Given the description of an element on the screen output the (x, y) to click on. 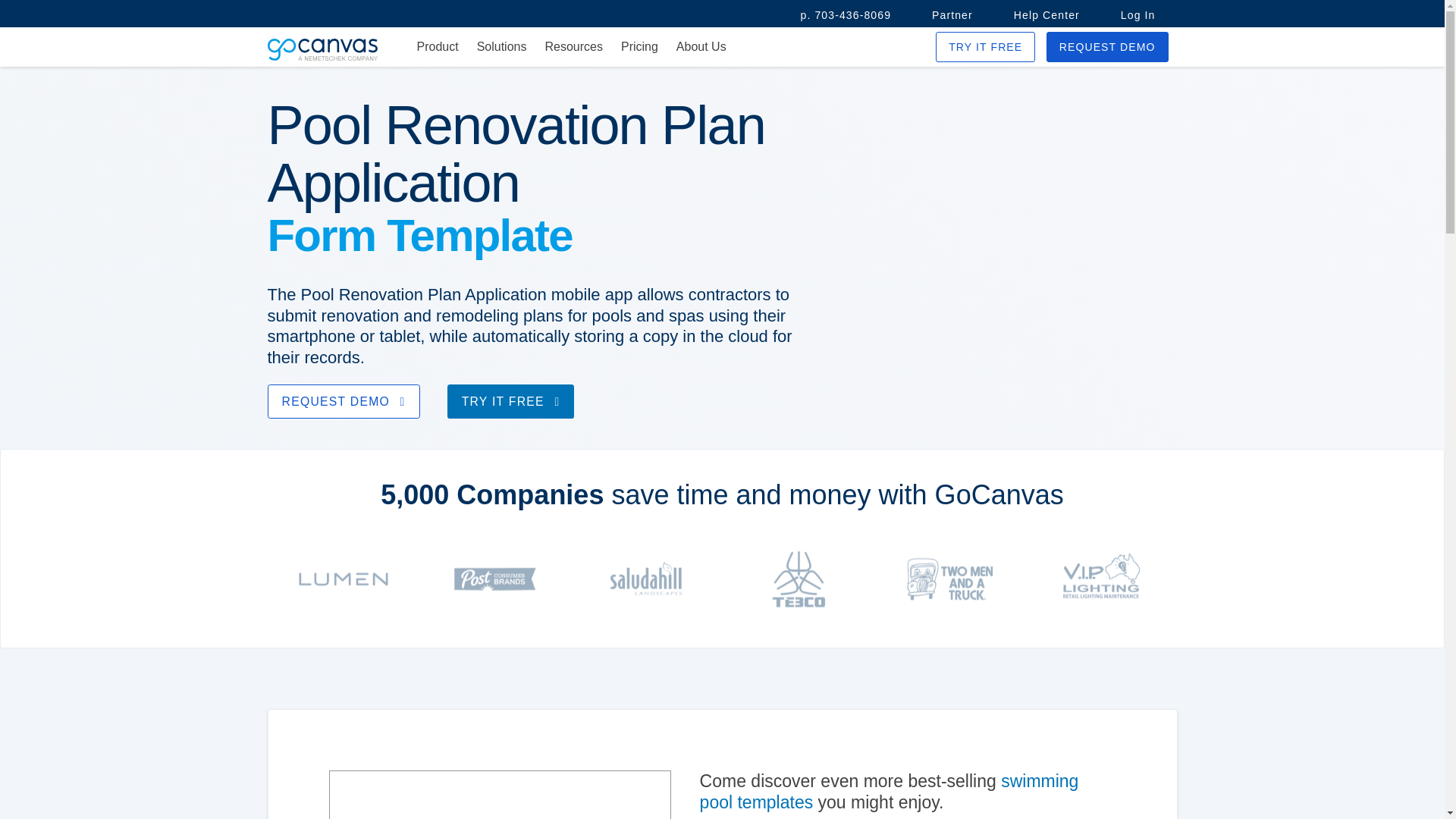
About Us (701, 46)
TRY IT FREE (510, 401)
swimming pool templates (889, 792)
Help Center (1047, 15)
Partner (951, 15)
REQUEST DEMO (1107, 46)
Pricing (639, 46)
REQUEST DEMO (342, 401)
p. 703-436-8069 (845, 15)
Log In (1138, 15)
